Given the description of an element on the screen output the (x, y) to click on. 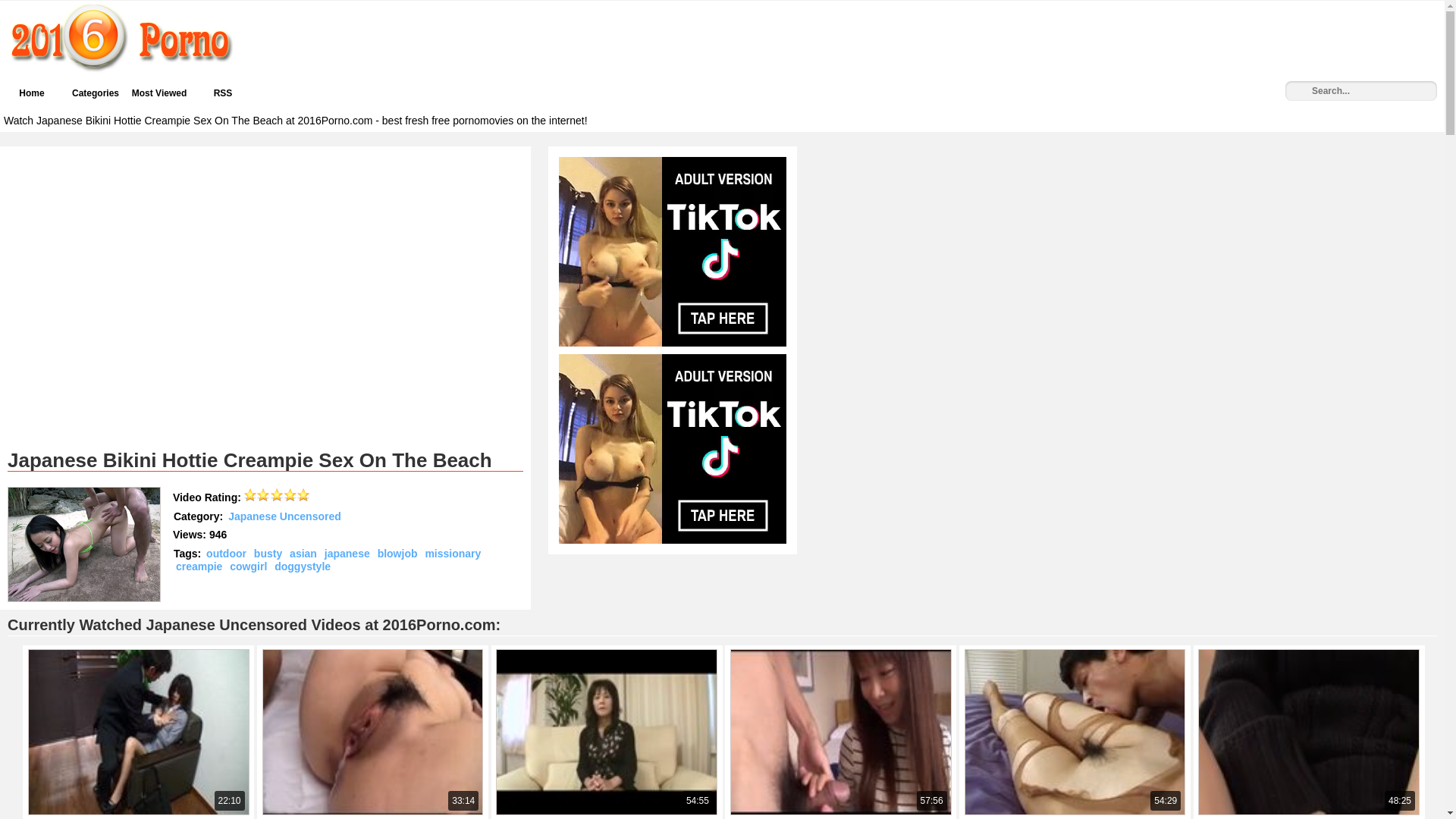
Japanese Bikini Hottie Creampie Sex On The Beach Element type: hover (84, 544)
asian Element type: text (303, 553)
busty Element type: text (267, 553)
RSS Element type: text (222, 92)
54:55
Granny Izumi Inaba Squirts And Creampie
1206 Element type: text (608, 652)
cowgirl Element type: text (248, 566)
creampie Element type: text (198, 566)
Japanese Uncensored Element type: text (284, 516)
Categories Element type: text (95, 92)
blowjob Element type: text (397, 553)
missionary Element type: text (452, 553)
outdoor Element type: text (225, 553)
57:56
Japanese MILF Yuuko Fucks and Creampie
568 Element type: text (841, 652)
japanese Element type: text (347, 553)
33:14
Busty Mikoto Mochida Uncensored 2 xLx
3857 Element type: text (374, 652)
doggystyle Element type: text (302, 566)
Home Element type: text (31, 92)
Most Viewed Element type: text (158, 92)
